Given the description of an element on the screen output the (x, y) to click on. 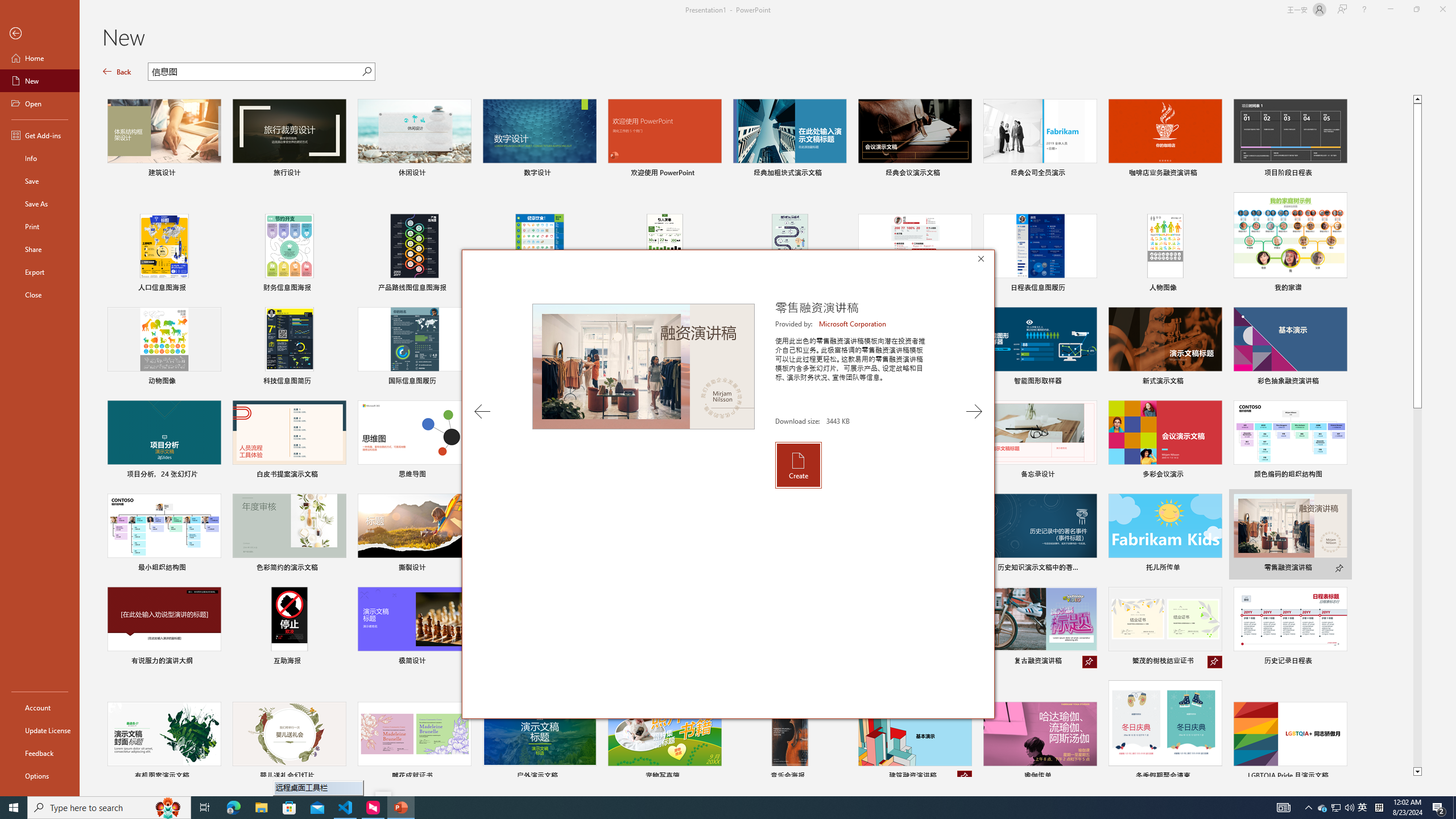
Get Add-ins (40, 134)
Search for online templates and themes (254, 73)
Back (117, 71)
Save As (40, 203)
Options (40, 775)
Feedback (40, 753)
